Given the description of an element on the screen output the (x, y) to click on. 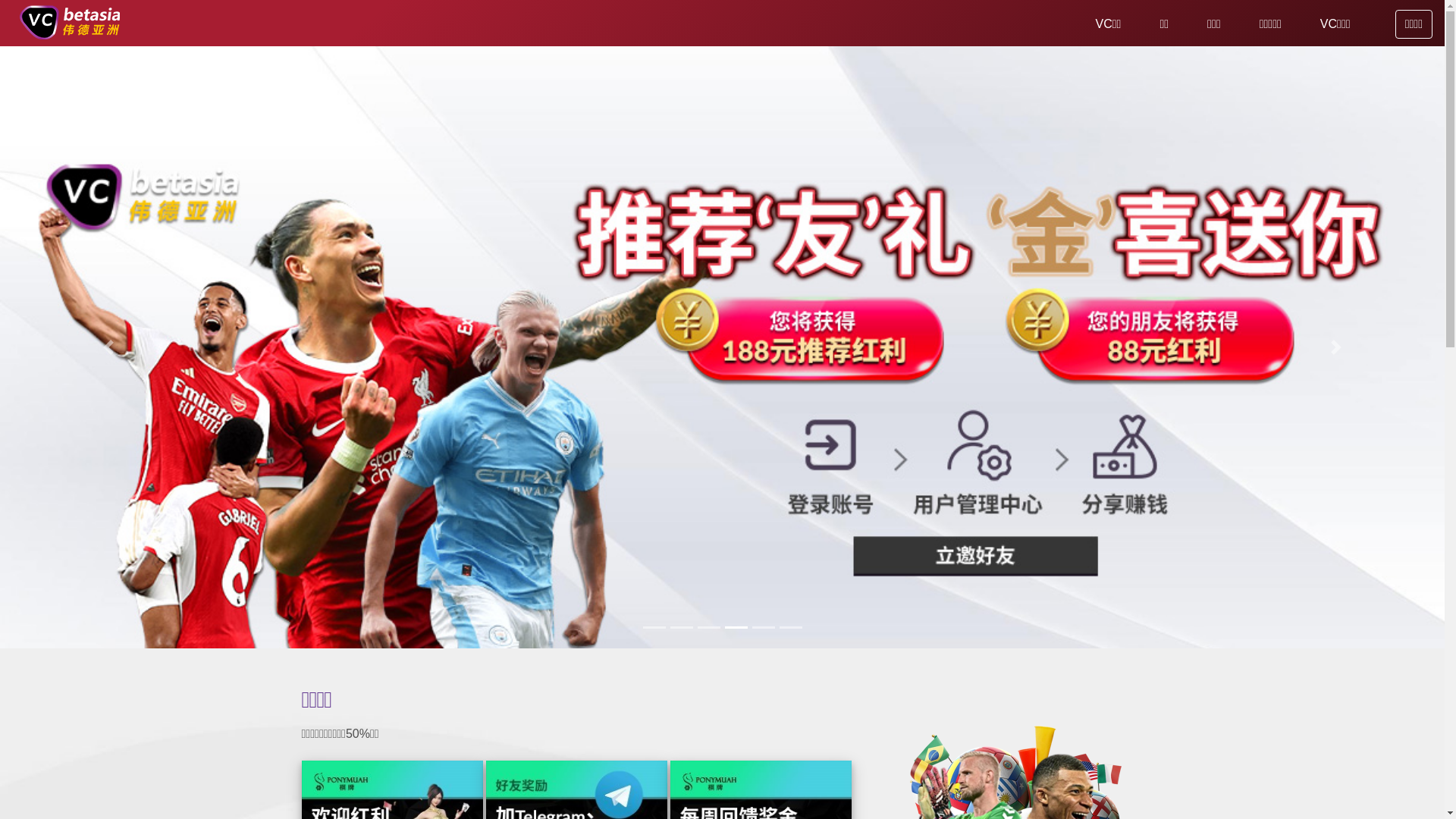
Next Element type: text (1335, 347)
Previous Element type: text (108, 347)
